Given the description of an element on the screen output the (x, y) to click on. 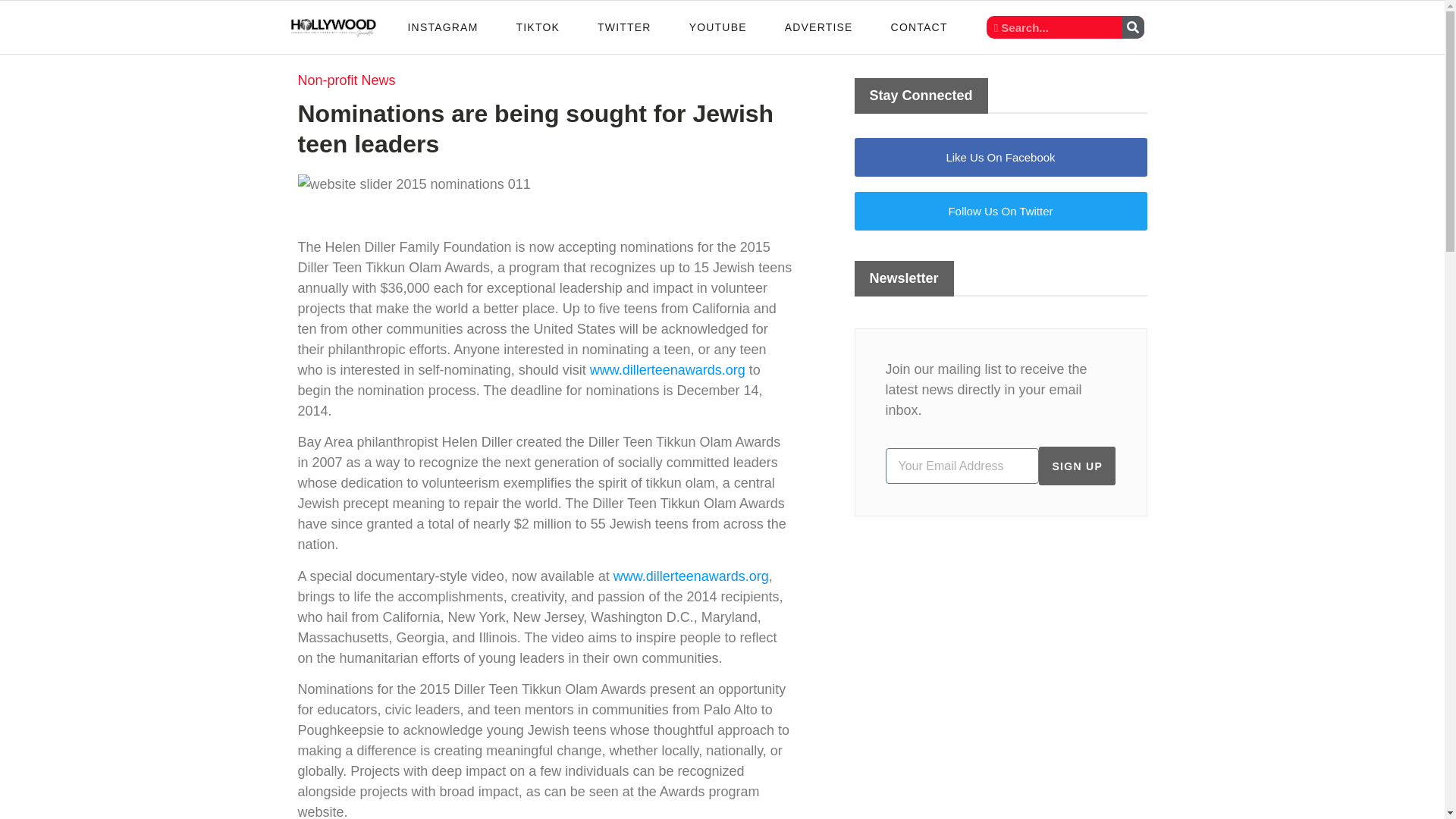
Like Us On Facebook (1000, 157)
Non-profit News (345, 79)
SIGN UP (1077, 465)
Follow Us On Twitter (1000, 210)
TIKTOK (537, 26)
www.dillerteenawards.org (690, 575)
INSTAGRAM (443, 26)
TWITTER (623, 26)
ADVERTISE (818, 26)
CONTACT (919, 26)
